Given the description of an element on the screen output the (x, y) to click on. 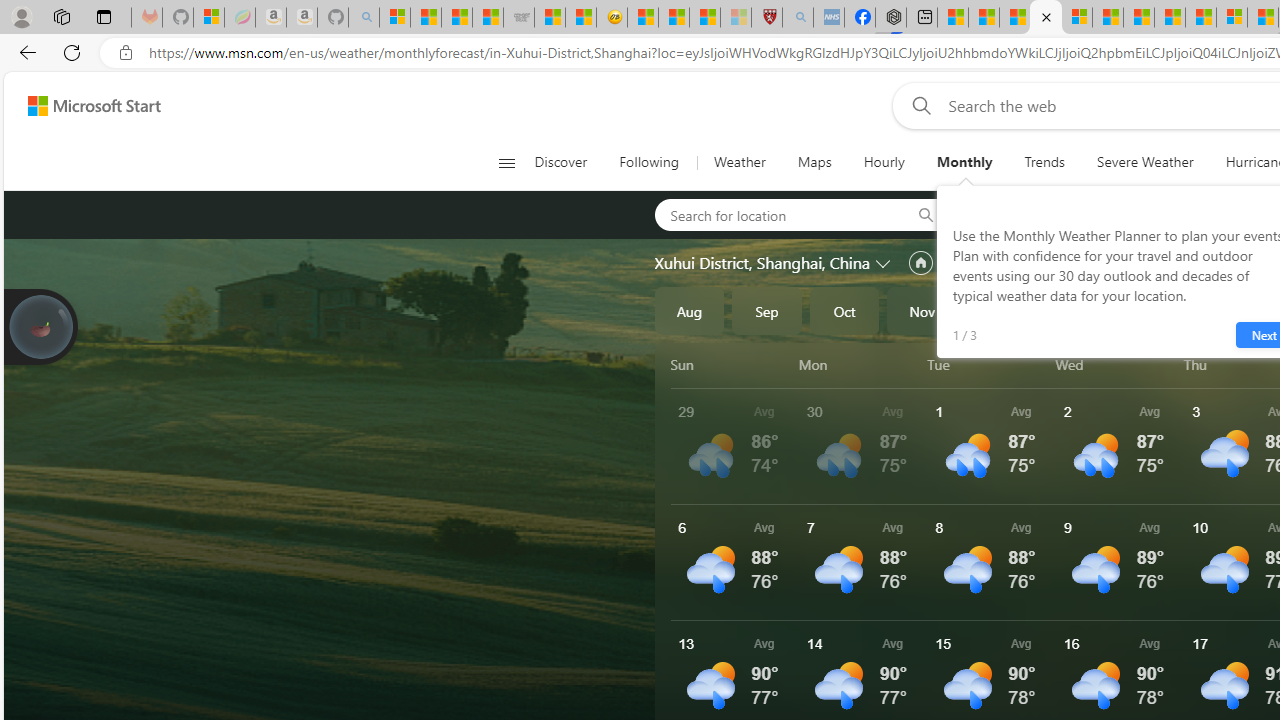
Severe Weather (1145, 162)
Join us in planting real trees to help our planet! (40, 325)
MSNBC - MSN (456, 17)
2025Jan (1077, 310)
Nov (922, 310)
Sep (767, 310)
Weather (739, 162)
Discover (560, 162)
Feb (1155, 310)
